Given the description of an element on the screen output the (x, y) to click on. 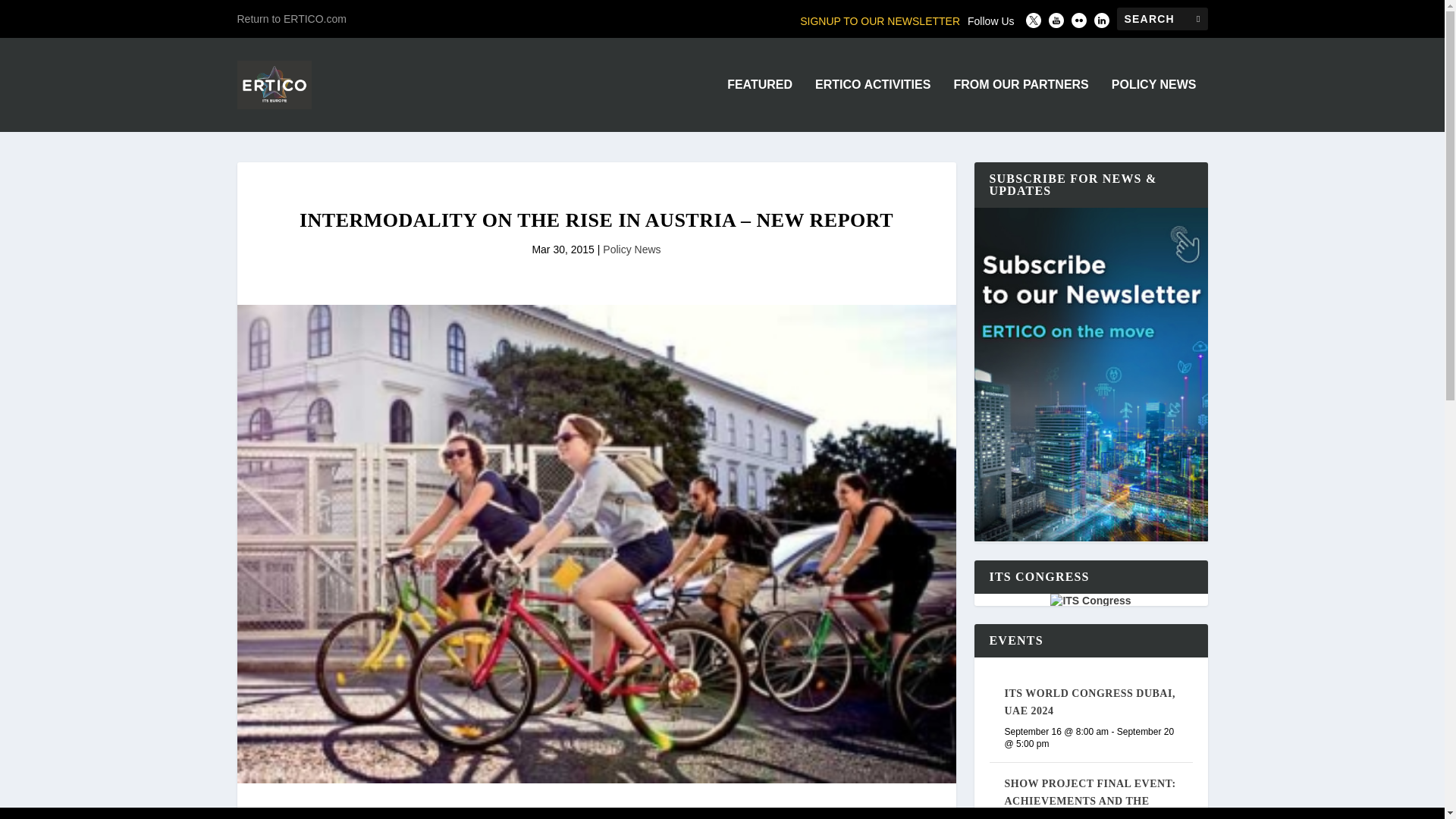
ITS WORLD CONGRESS DUBAI, UAE 2024 (1089, 701)
FROM OUR PARTNERS (1020, 104)
Policy News (631, 249)
SIGNUP TO OUR NEWSLETTER (879, 21)
FEATURED (759, 104)
ERTICO ACTIVITIES (872, 104)
SHOW PROJECT FINAL EVENT: ACHIEVEMENTS AND THE ROAD AHEAD (1089, 798)
Return to ERTICO.com (290, 18)
POLICY NEWS (1154, 104)
Search for: (1161, 18)
